Given the description of an element on the screen output the (x, y) to click on. 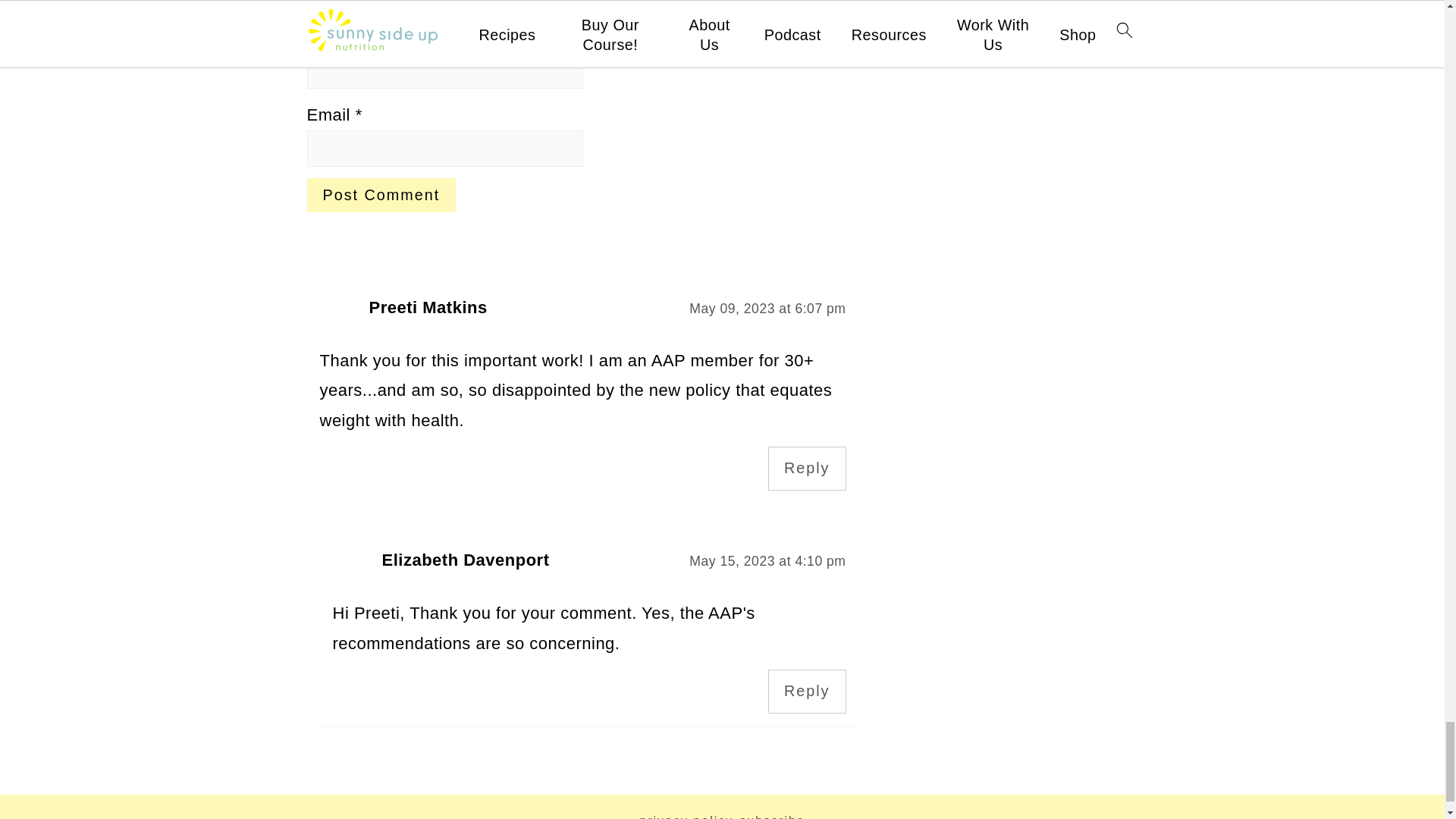
Post Comment (380, 195)
